Given the description of an element on the screen output the (x, y) to click on. 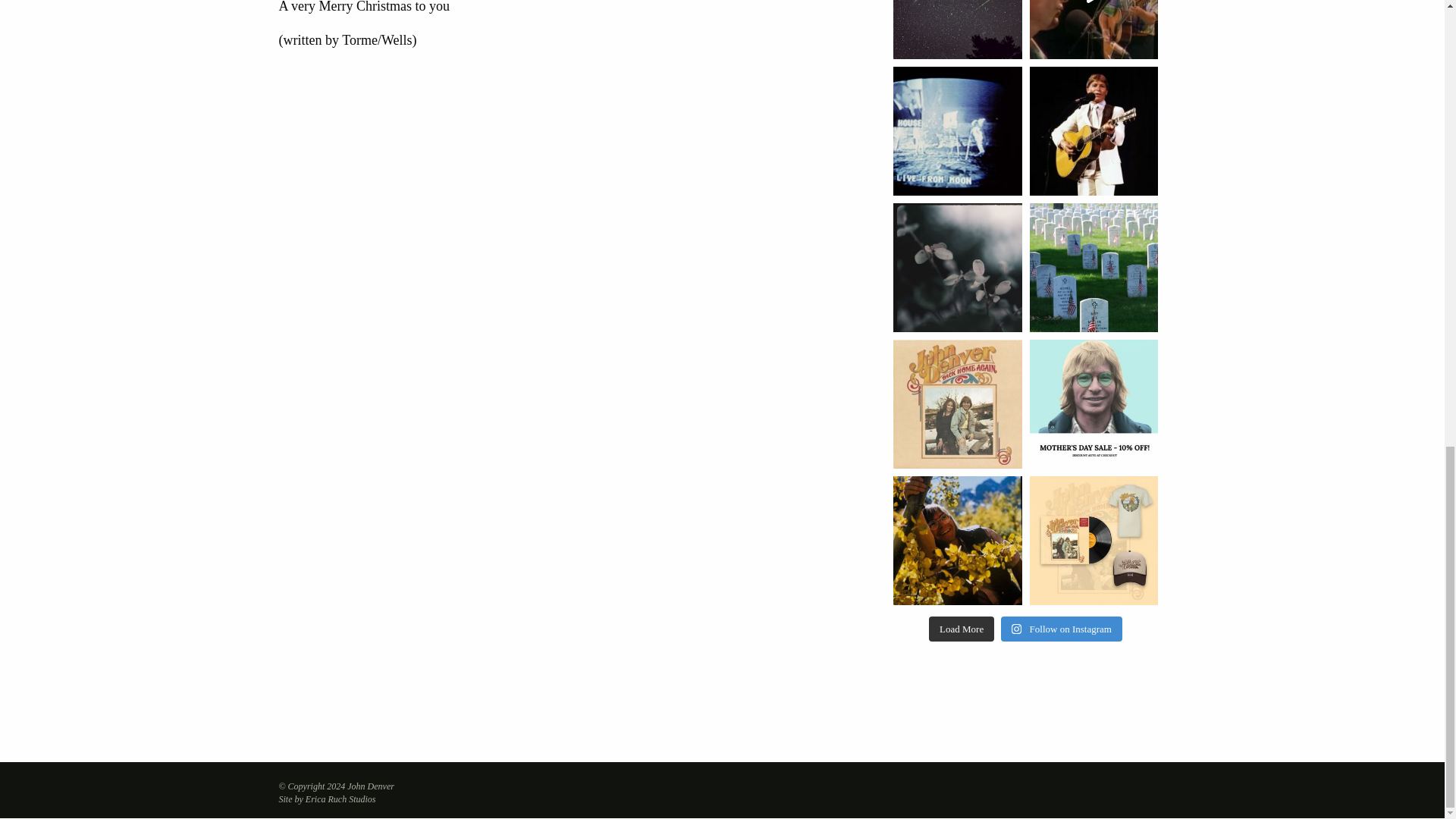
Load More (961, 629)
Erica Ruch Studios (340, 798)
Follow on Instagram (1061, 629)
